Given the description of an element on the screen output the (x, y) to click on. 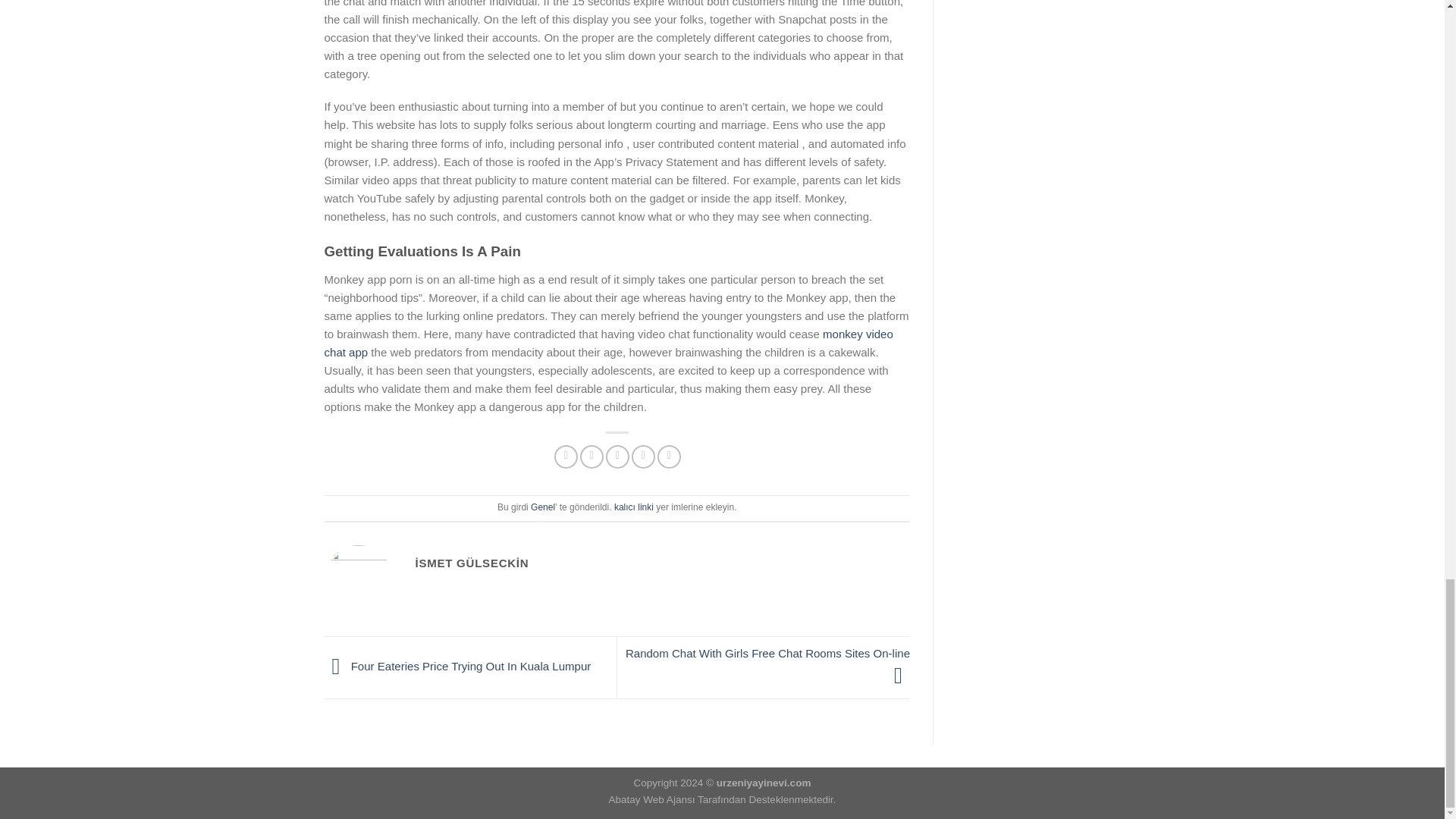
Permalink to Monkey App Review For Parents And Caring Adults (633, 507)
Random Chat With Girls Free Chat Rooms Sites On-line (768, 664)
Four Eateries Price Trying Out In Kuala Lumpur (457, 666)
Genel (542, 507)
monkey video chat app (608, 342)
